Given the description of an element on the screen output the (x, y) to click on. 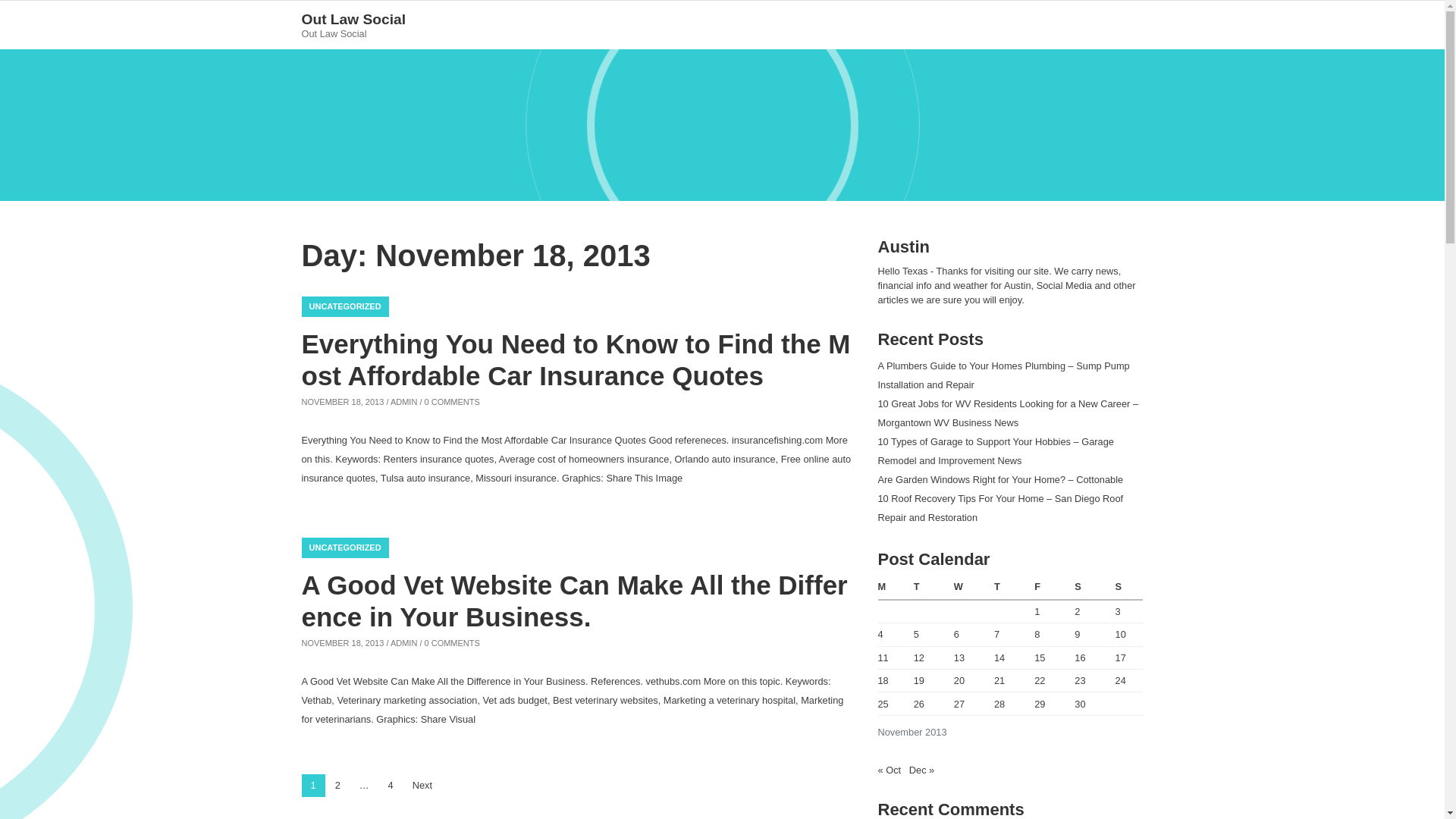
11 (882, 657)
10 (1120, 633)
16 (1079, 657)
12 (919, 657)
Sunday (1126, 587)
17 (1120, 657)
UNCATEGORIZED (344, 547)
Saturday (1090, 587)
18 (882, 680)
